Given the description of an element on the screen output the (x, y) to click on. 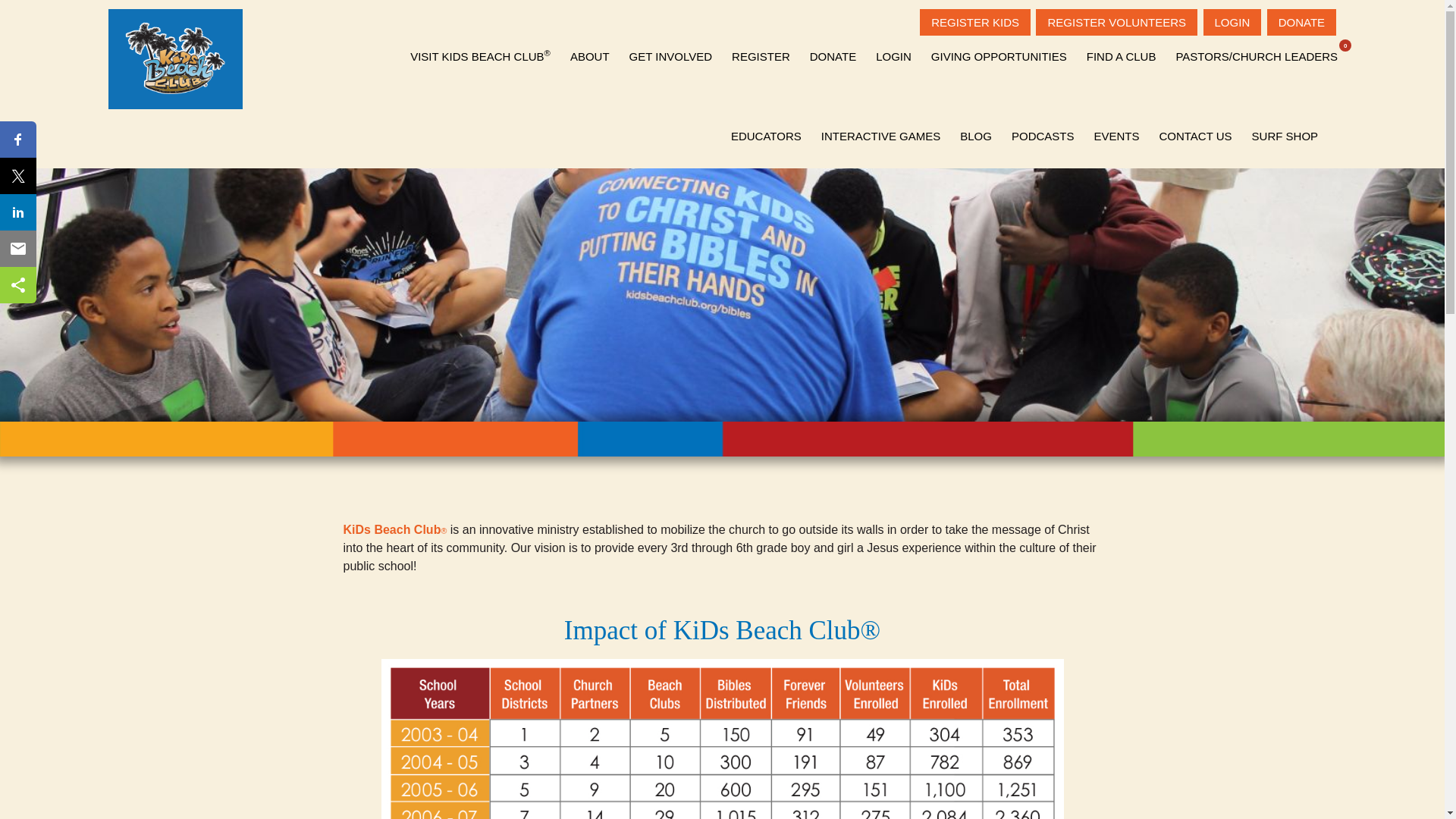
GET INVOLVED (671, 48)
GIVING OPPORTUNITIES (999, 48)
DONATE (1301, 22)
EDUCATORS (765, 128)
REGISTER KIDS (975, 22)
LOGIN (1233, 22)
REGISTER VOLUNTEERS (1115, 22)
INTERACTIVE GAMES (880, 128)
FIND A CLUB (1121, 48)
PODCASTS (1042, 128)
REGISTER (760, 48)
